Given the description of an element on the screen output the (x, y) to click on. 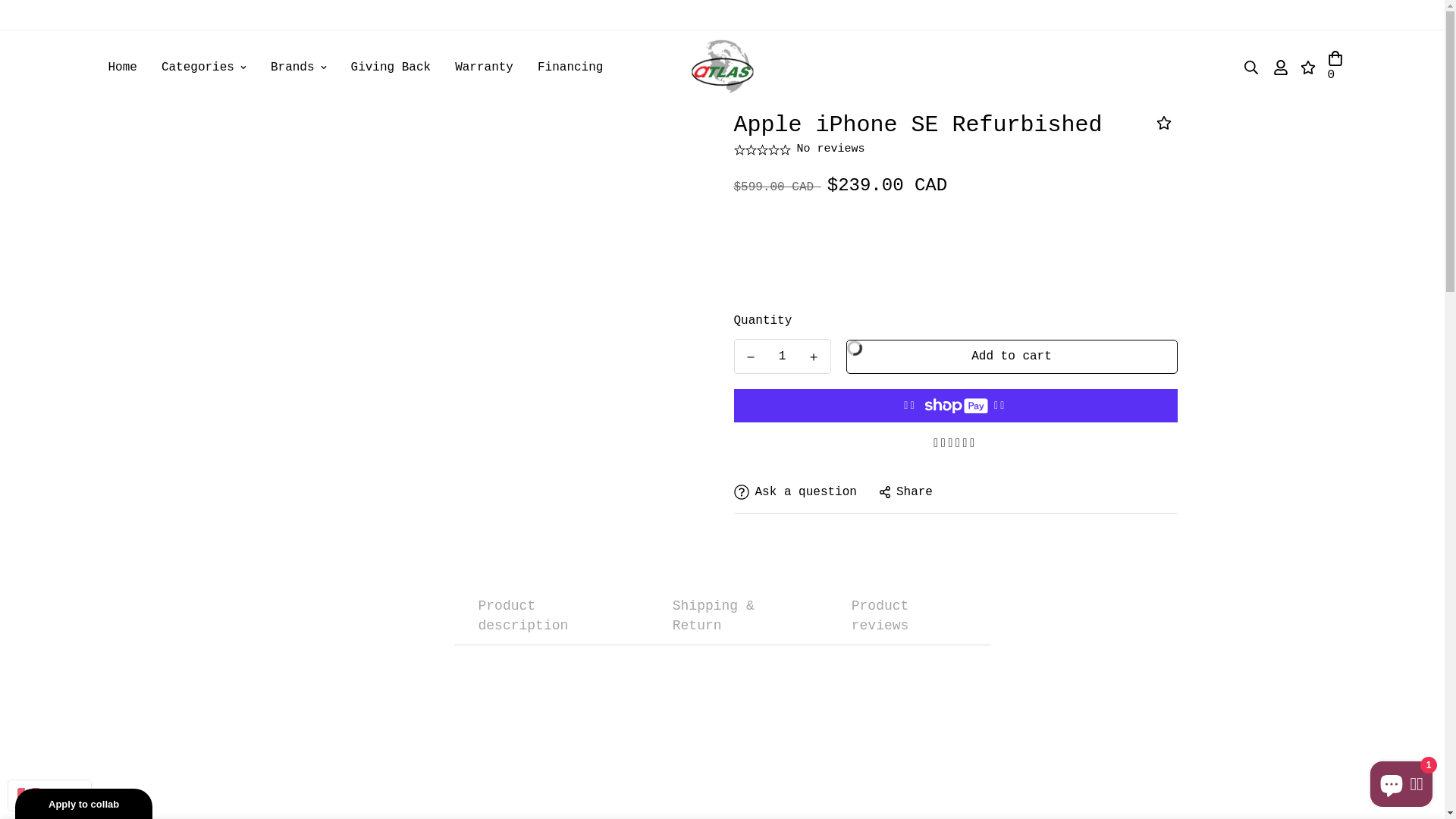
Categories Element type: text (203, 67)
Home Element type: text (121, 67)
Warranty Element type: text (483, 67)
Home Element type: text (584, 51)
Giving Back Element type: text (390, 67)
Add to cart Element type: text (1011, 356)
Financing Element type: text (570, 67)
Apple Element type: text (626, 51)
Share Element type: text (905, 491)
Ask a question Element type: text (795, 491)
0 Element type: text (1334, 67)
Brands Element type: text (298, 67)
